Given the description of an element on the screen output the (x, y) to click on. 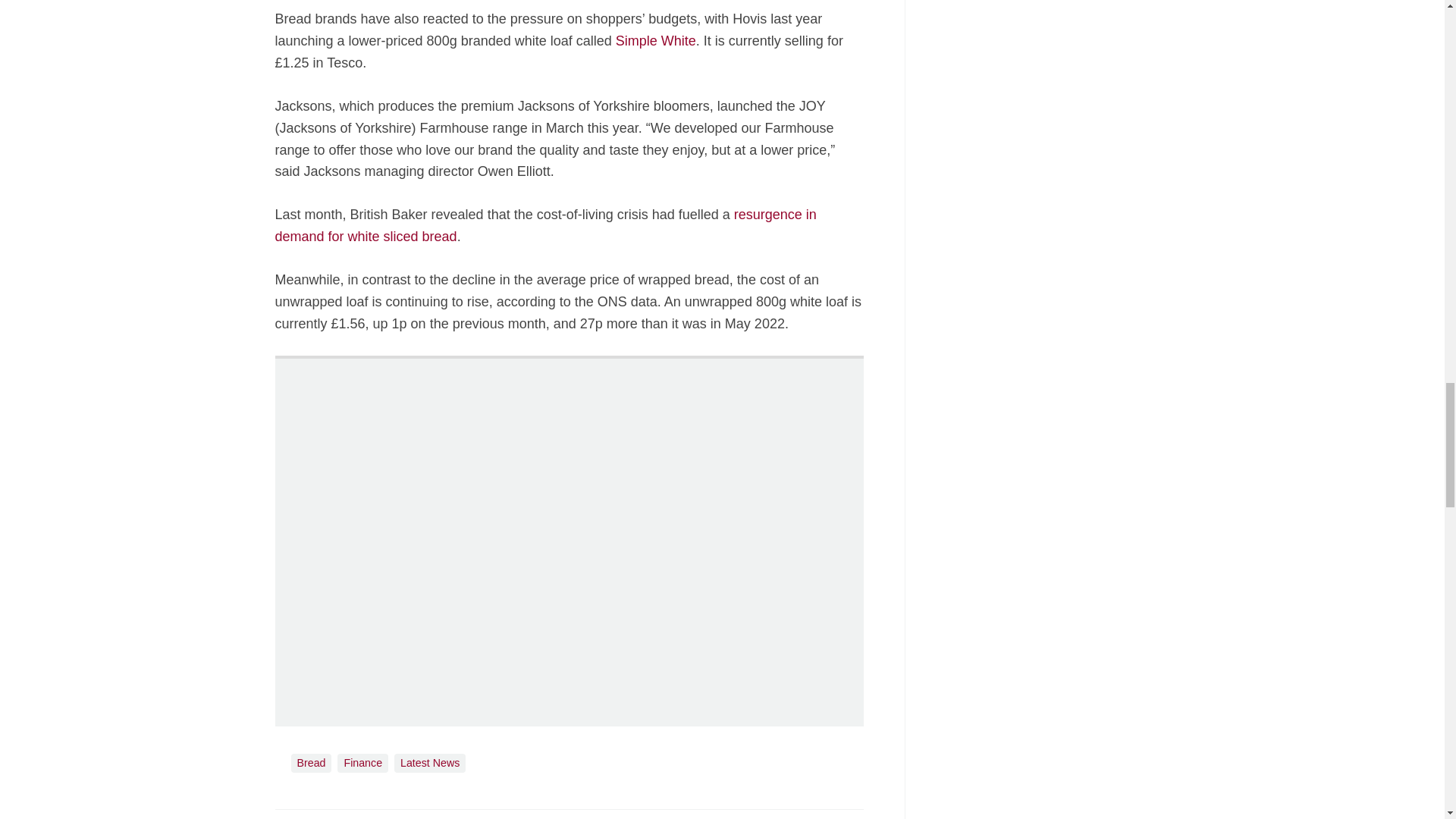
Share this on Linked in (352, 818)
Email this article (386, 818)
Share this on Facebook (288, 818)
Share this on Twitter (320, 818)
